Given the description of an element on the screen output the (x, y) to click on. 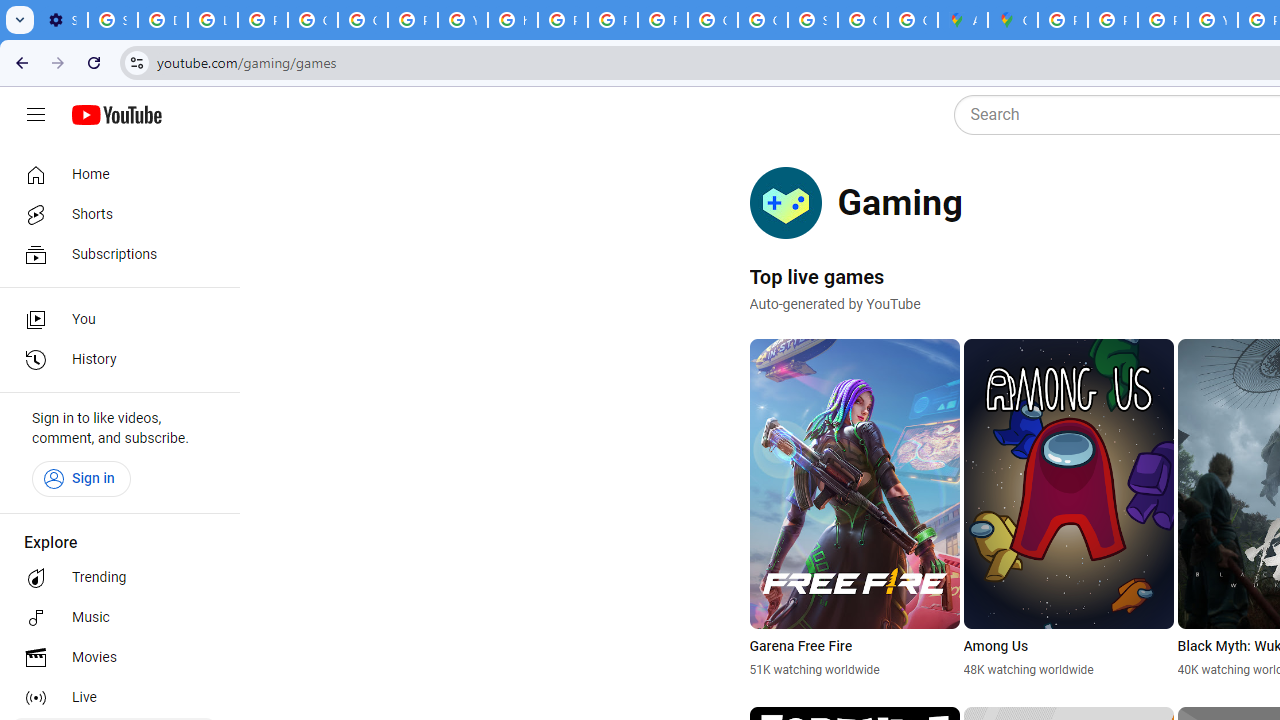
Garena Free Fire 51K watching worldwide (854, 508)
Trending (113, 578)
History (113, 359)
Privacy Help Center - Policies Help (1162, 20)
Privacy Help Center - Policies Help (1112, 20)
Among Us 48K watching worldwide (1067, 508)
Settings - On startup (62, 20)
Delete photos & videos - Computer - Google Photos Help (163, 20)
Sign in - Google Accounts (113, 20)
Guide (35, 115)
